Given the description of an element on the screen output the (x, y) to click on. 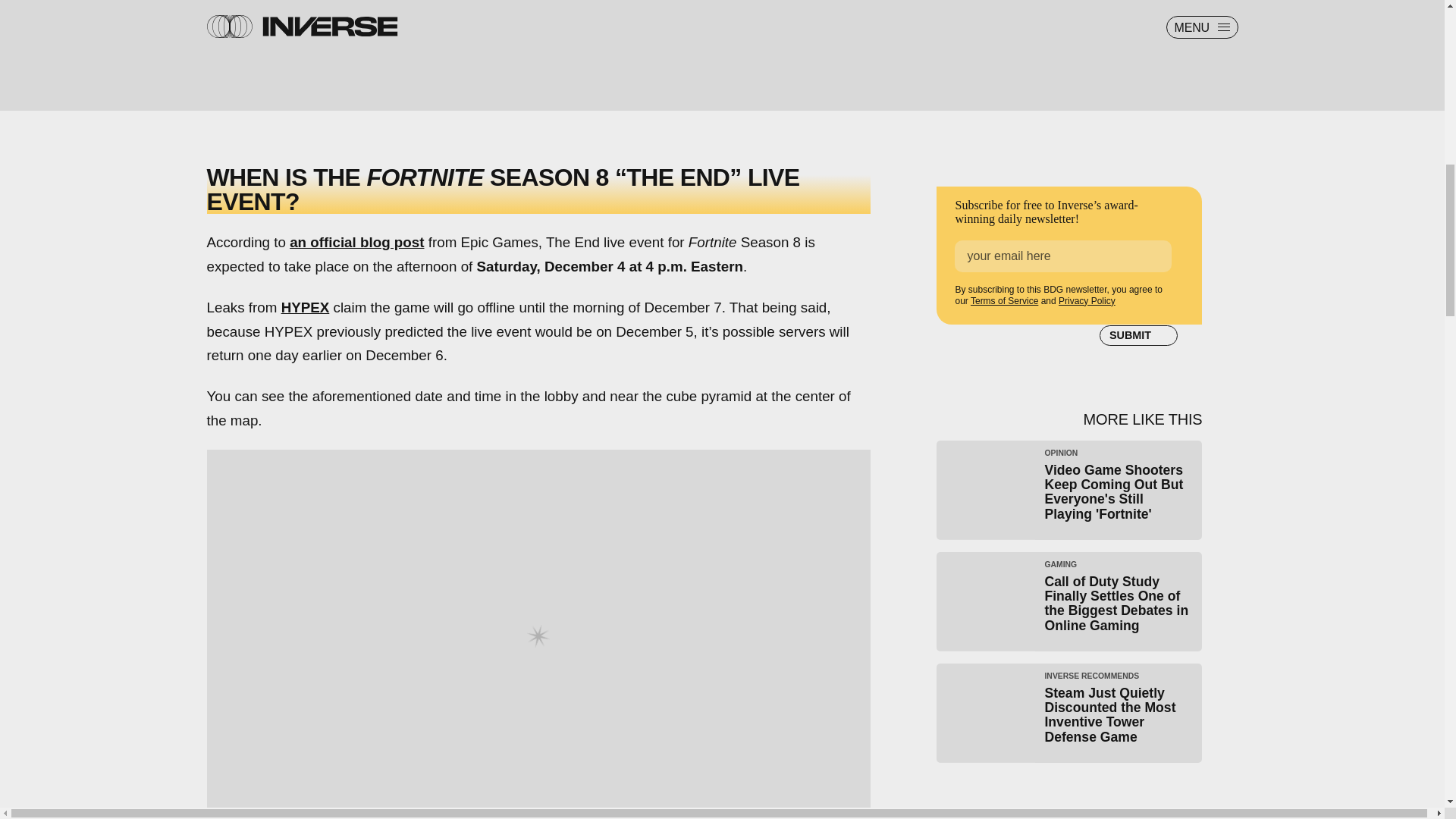
HYPEX (305, 307)
an official blog post (356, 242)
Terms of Service (1004, 300)
SUBMIT (1138, 335)
Privacy Policy (1086, 300)
